Given the description of an element on the screen output the (x, y) to click on. 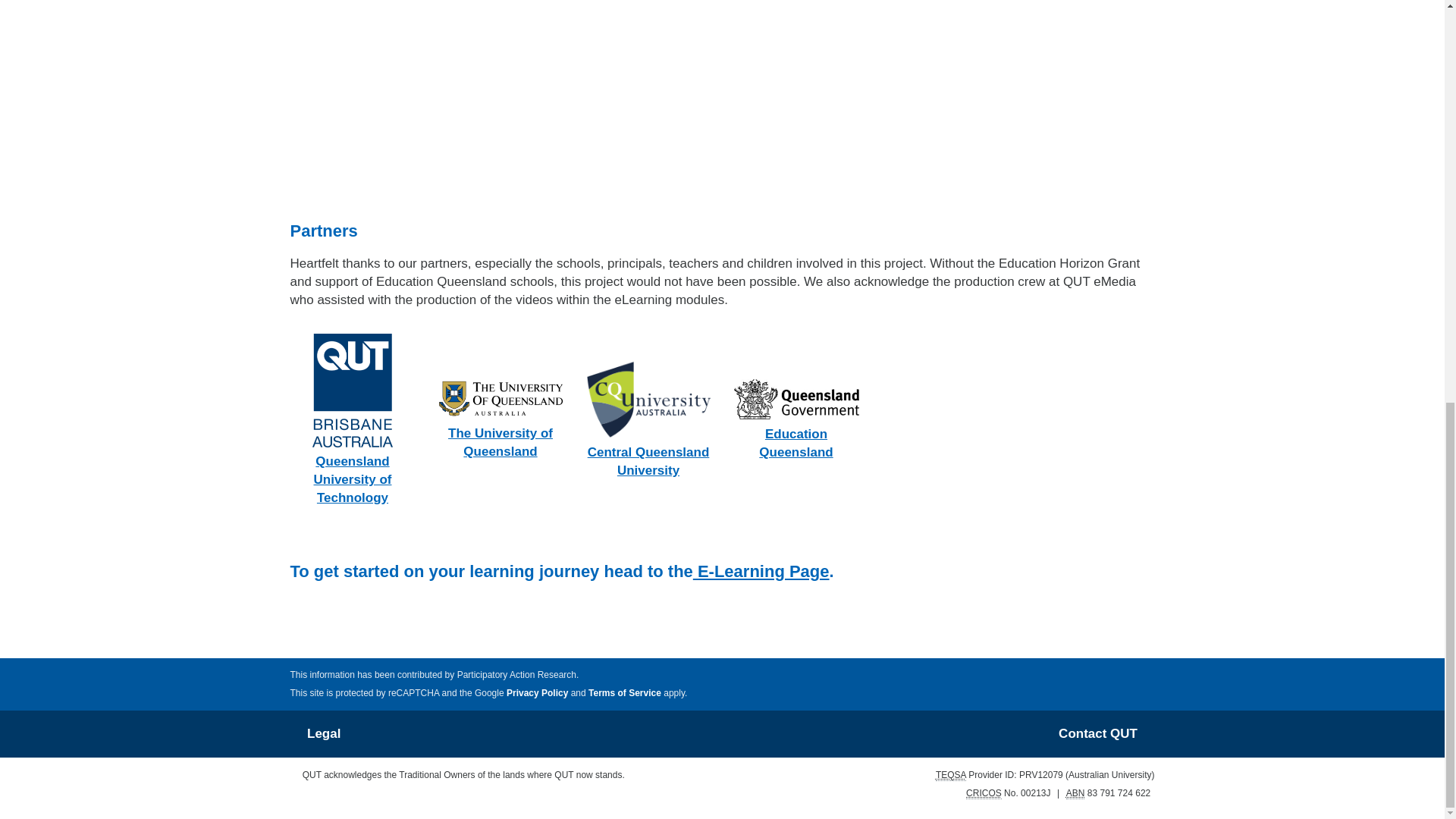
The University of Queensland (500, 419)
Tertiary Education Quality and Standards Agency (951, 775)
E-Learning Page (761, 570)
Privacy Policy (536, 692)
Terms of Service (624, 692)
Legal (323, 732)
Contact QUT (1097, 732)
Education Queensland (796, 419)
Queensland University of Technology (351, 418)
Central Queensland University (647, 418)
Australian Business Number (1074, 793)
